Given the description of an element on the screen output the (x, y) to click on. 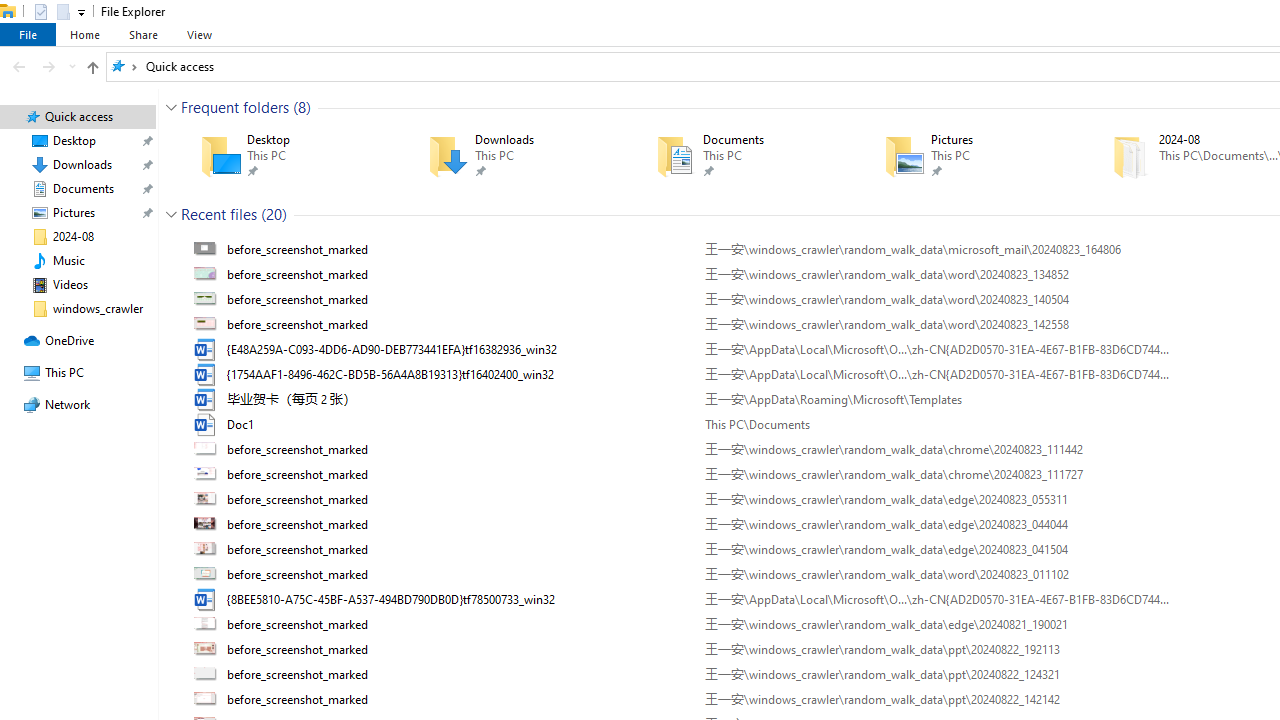
System (10, 11)
Quick Access Toolbar (51, 11)
All locations (124, 65)
Class: UIImage (207, 699)
Customize Quick Access Toolbar (81, 11)
System (10, 11)
Name (458, 699)
Home (84, 34)
View (199, 34)
Share (143, 34)
Count (273, 213)
